Given the description of an element on the screen output the (x, y) to click on. 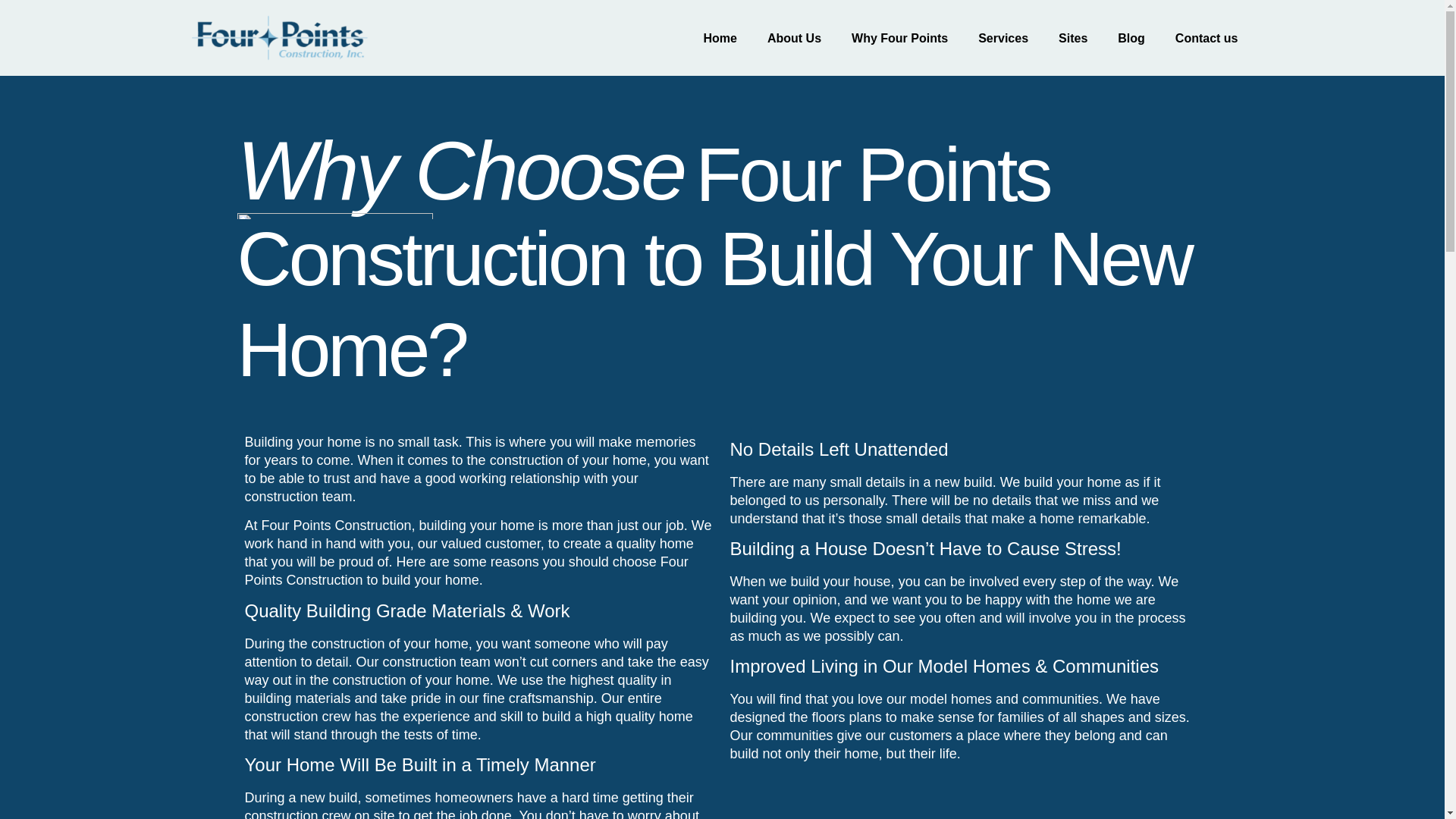
Services (1002, 37)
Sites (1072, 37)
Why Four Points (898, 37)
About Us (793, 37)
Home (720, 37)
Contact us (1206, 37)
Blog (1131, 37)
